Given the description of an element on the screen output the (x, y) to click on. 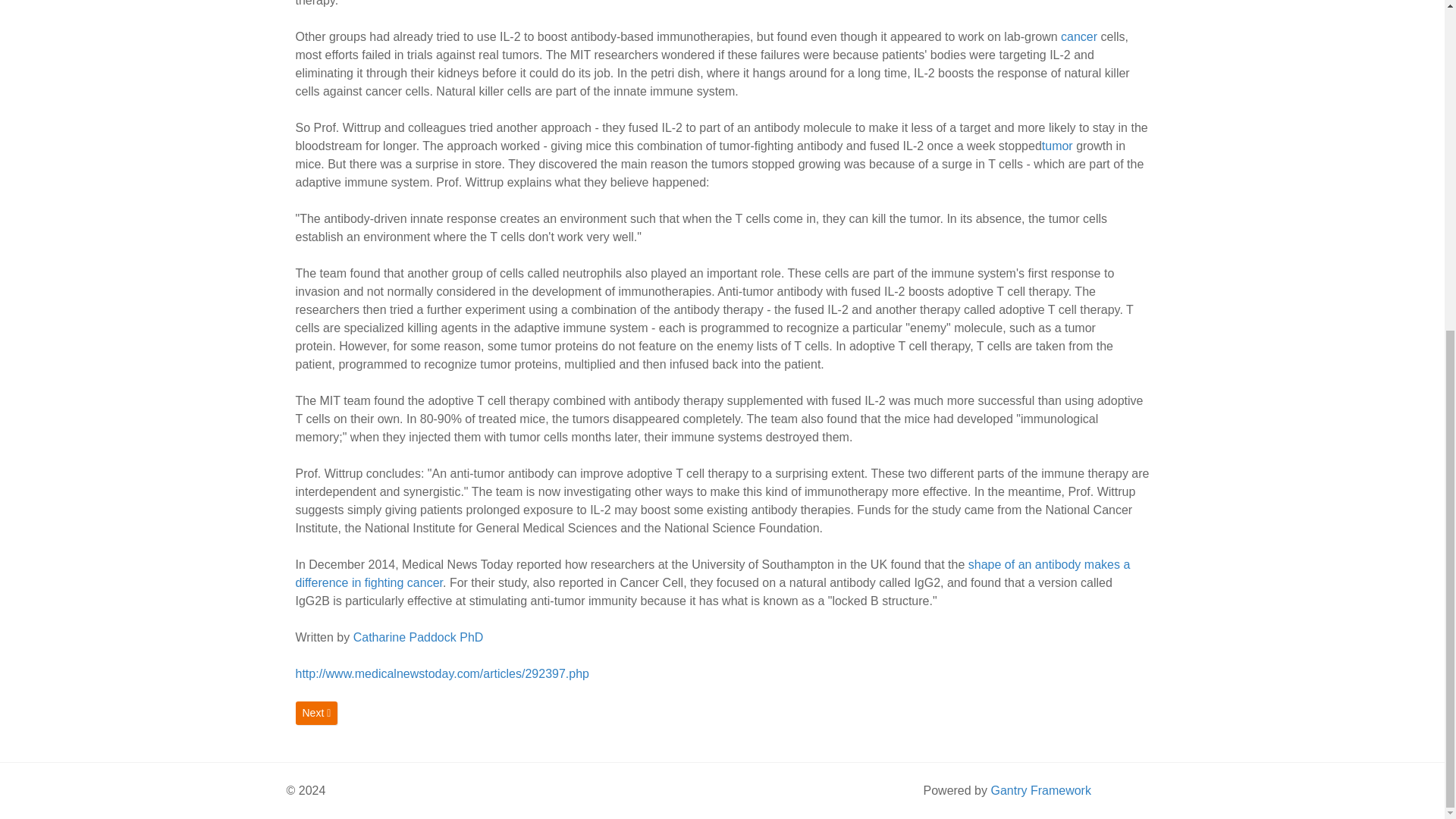
Gantry Framework (1040, 789)
What is a tumor? (1057, 145)
View all articles written by Catharine Paddock PhD (418, 636)
What is Cancer? (1079, 36)
